Given the description of an element on the screen output the (x, y) to click on. 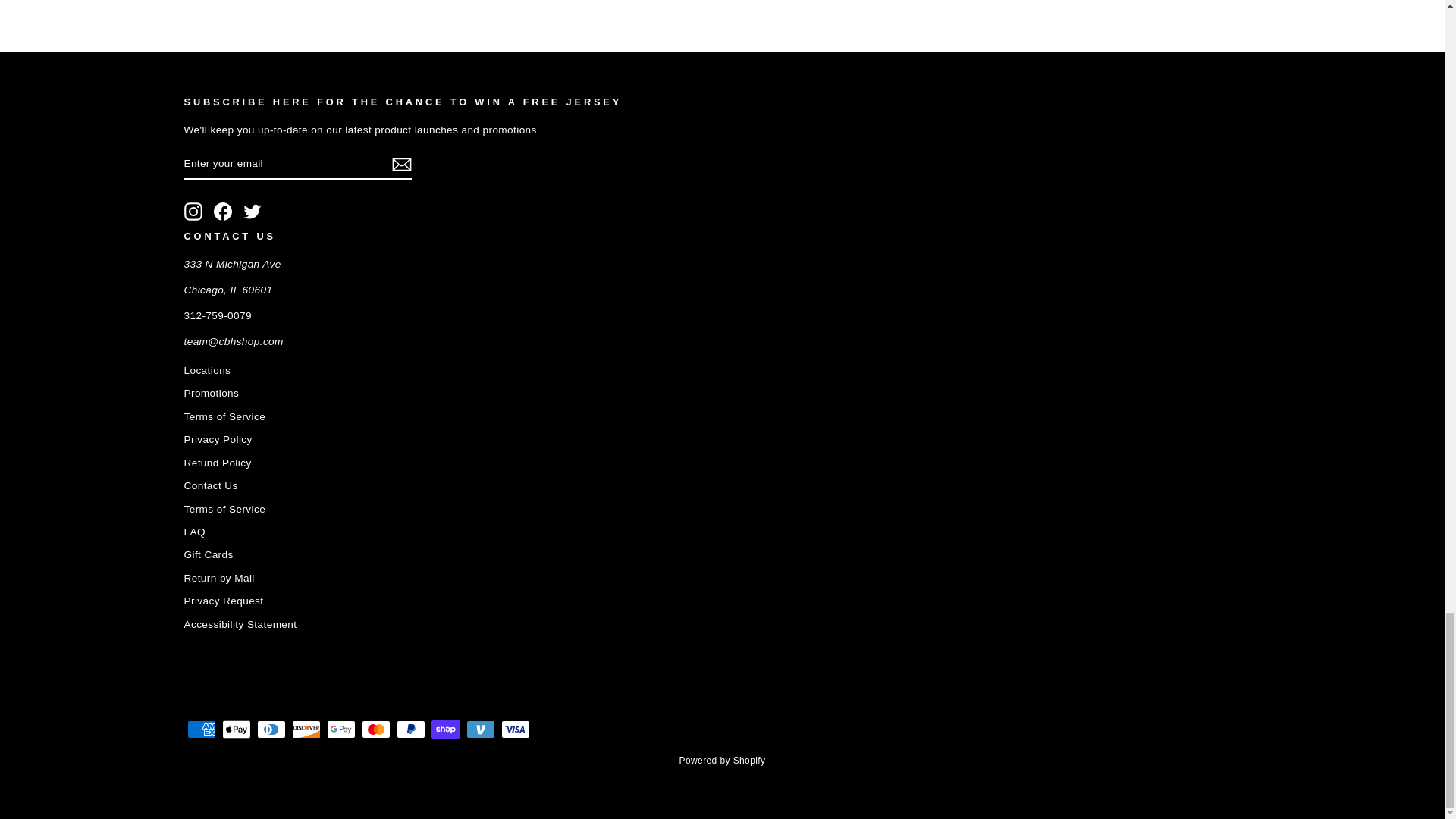
icon-email (400, 164)
CBH Shop on Twitter (251, 211)
CBH Shop on Facebook (222, 211)
CBH Shop on Instagram (192, 211)
